Given the description of an element on the screen output the (x, y) to click on. 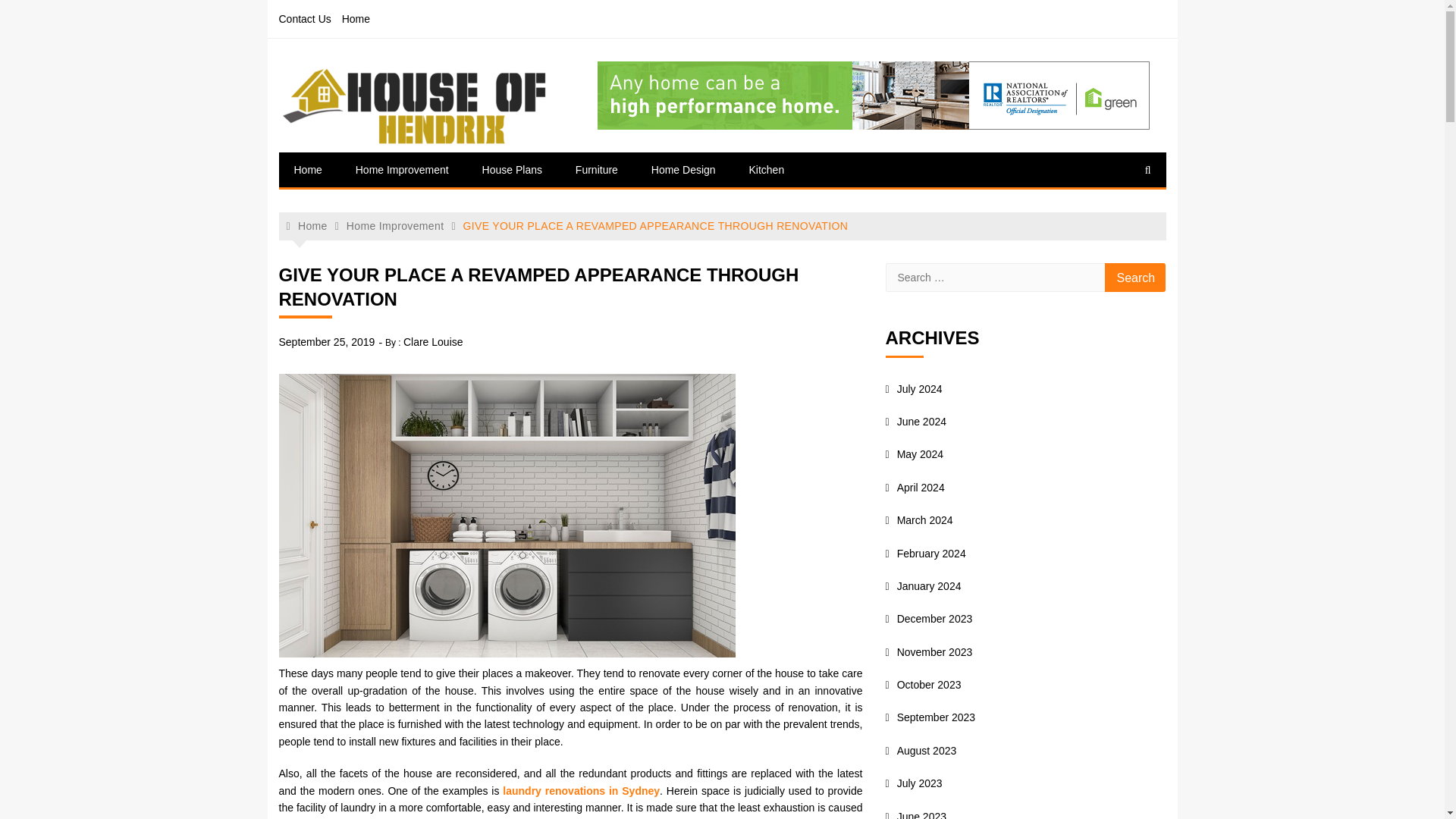
Contact Us (305, 18)
Home (308, 169)
Home (306, 226)
laundry renovations in Sydney (580, 789)
Home Improvement (395, 225)
House of Hendrix (384, 163)
June 2024 (916, 421)
Clare Louise (433, 341)
Search (1135, 276)
July 2024 (913, 388)
September 25, 2019 (327, 341)
Search (1135, 276)
Home (355, 18)
Home Design (683, 169)
Furniture (596, 169)
